Given the description of an element on the screen output the (x, y) to click on. 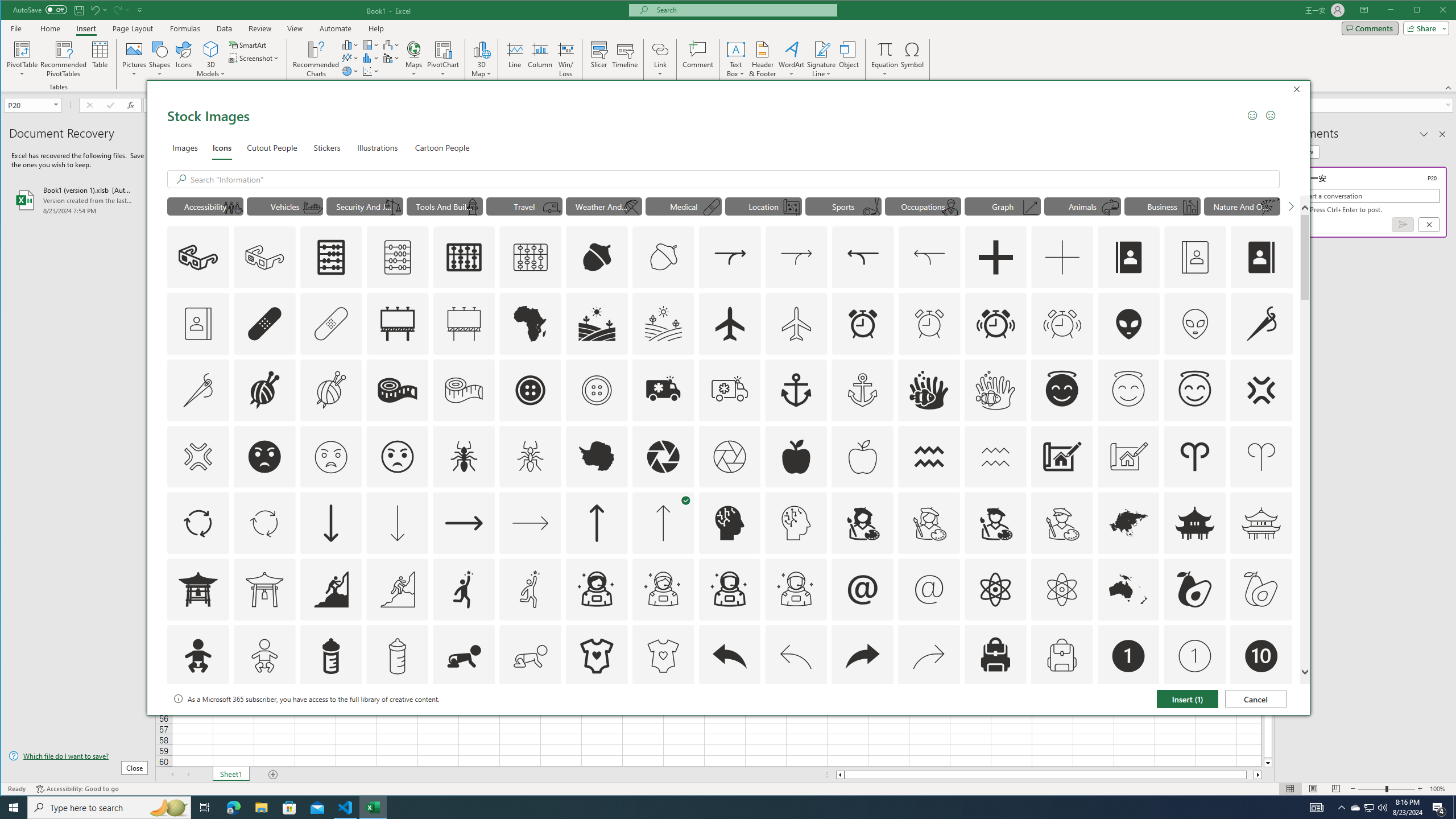
3D Models (211, 48)
Cartoon People (442, 147)
AutomationID: Icons_Badge1_M (1194, 655)
Screenshot (254, 57)
AutomationID: Icons_Airplane (729, 323)
Visual Studio Code - 1 running window (345, 807)
AutomationID: Icons_BabyOnesie_M (663, 655)
AutomationID: Icons_Baby_M (264, 655)
